Given the description of an element on the screen output the (x, y) to click on. 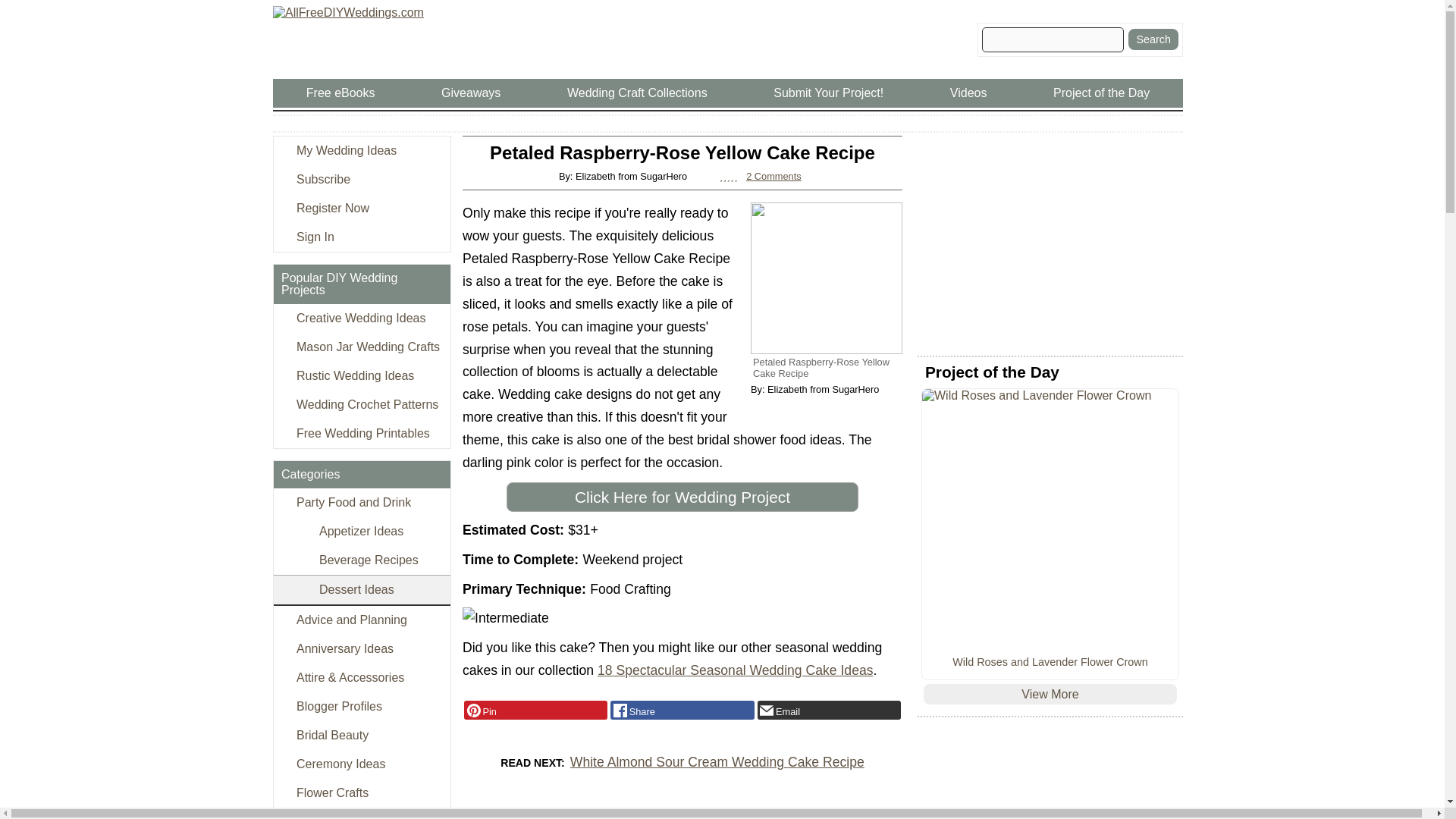
Petaled Raspberry-Rose Yellow Cake Recipe (826, 277)
My Wedding Ideas (361, 150)
Search (1152, 38)
18 Spectacular Seasonal Wedding Cake Ideas (734, 670)
Sign In (361, 236)
Email (829, 710)
Facebook (682, 710)
Register Now (361, 208)
Subscribe (361, 179)
